Given the description of an element on the screen output the (x, y) to click on. 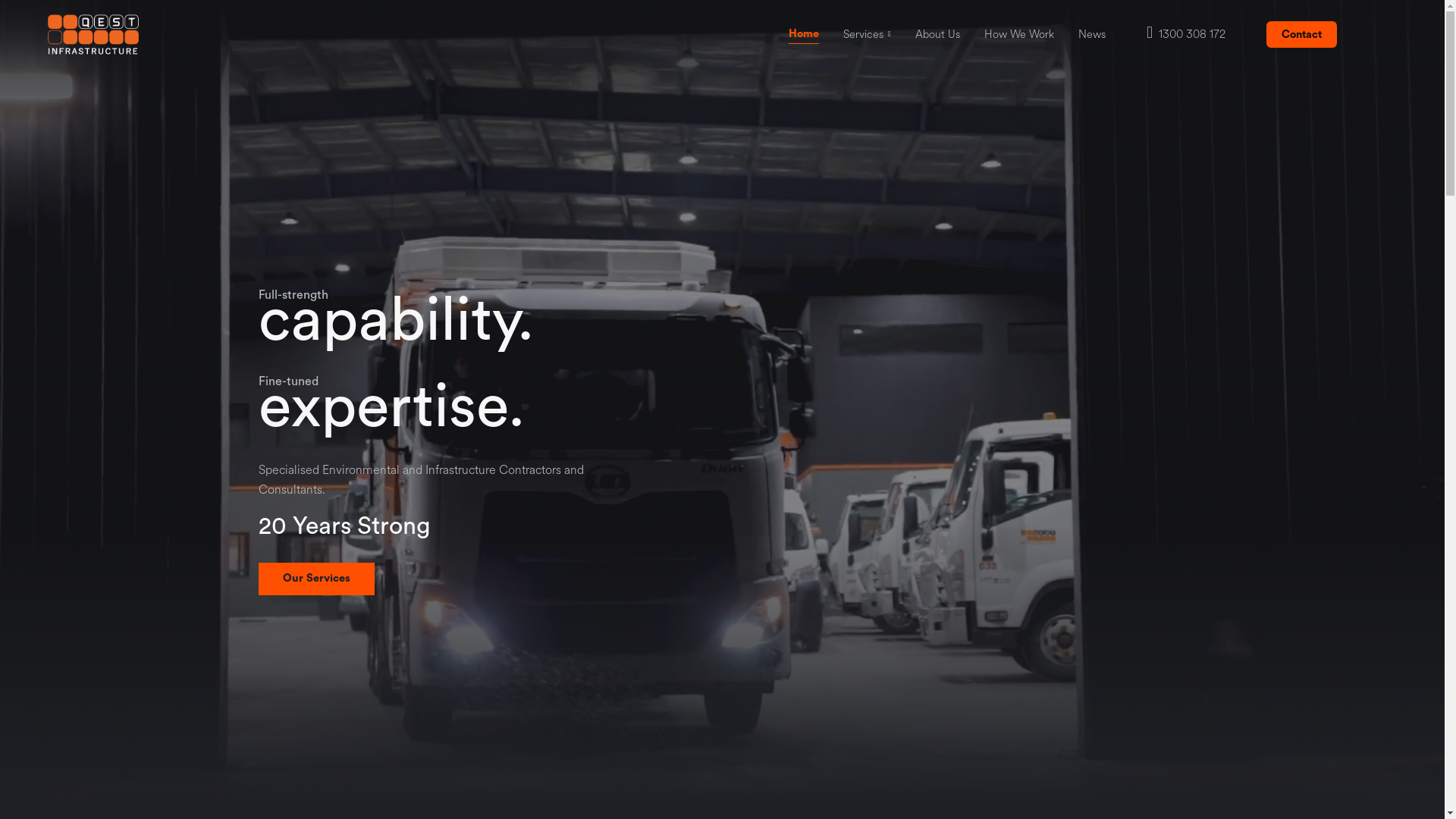
Our Services Element type: text (315, 578)
About Us Element type: text (937, 33)
How We Work Element type: text (1019, 33)
Contact Element type: text (1301, 34)
Services Element type: text (863, 33)
1300 308 172 Element type: text (1185, 33)
Home Element type: text (803, 35)
News Element type: text (1091, 33)
